Given the description of an element on the screen output the (x, y) to click on. 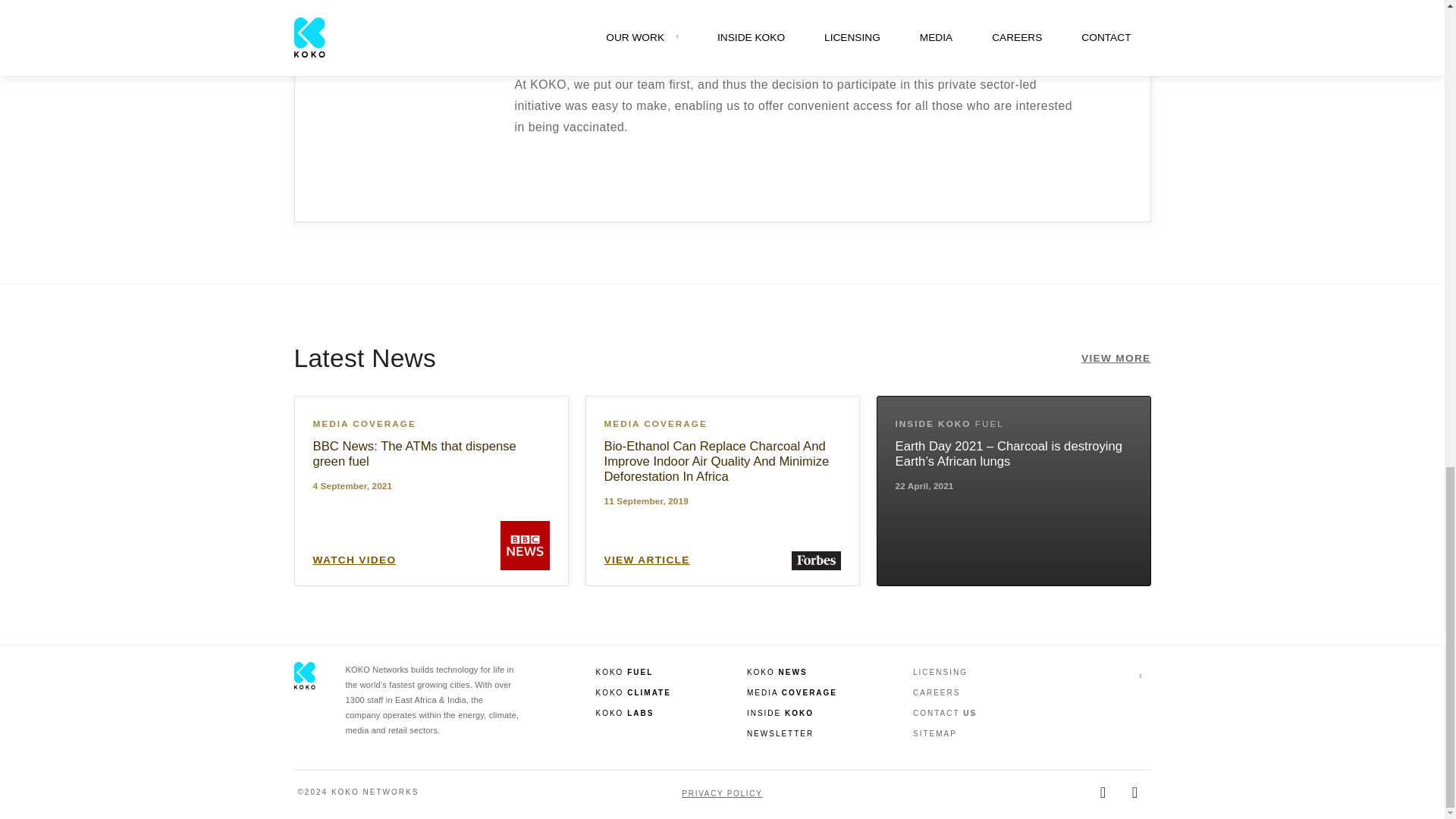
VIEW ARTICLE (646, 560)
VIEW MORE (1116, 358)
INSIDE KOKO (791, 712)
MEDIA COVERAGE (791, 692)
WATCH VIDEO (354, 560)
KOKO FUEL (633, 671)
KOKO CLIMATE (633, 692)
KOKO NEWS (791, 671)
KOKO LABS (633, 712)
